Given the description of an element on the screen output the (x, y) to click on. 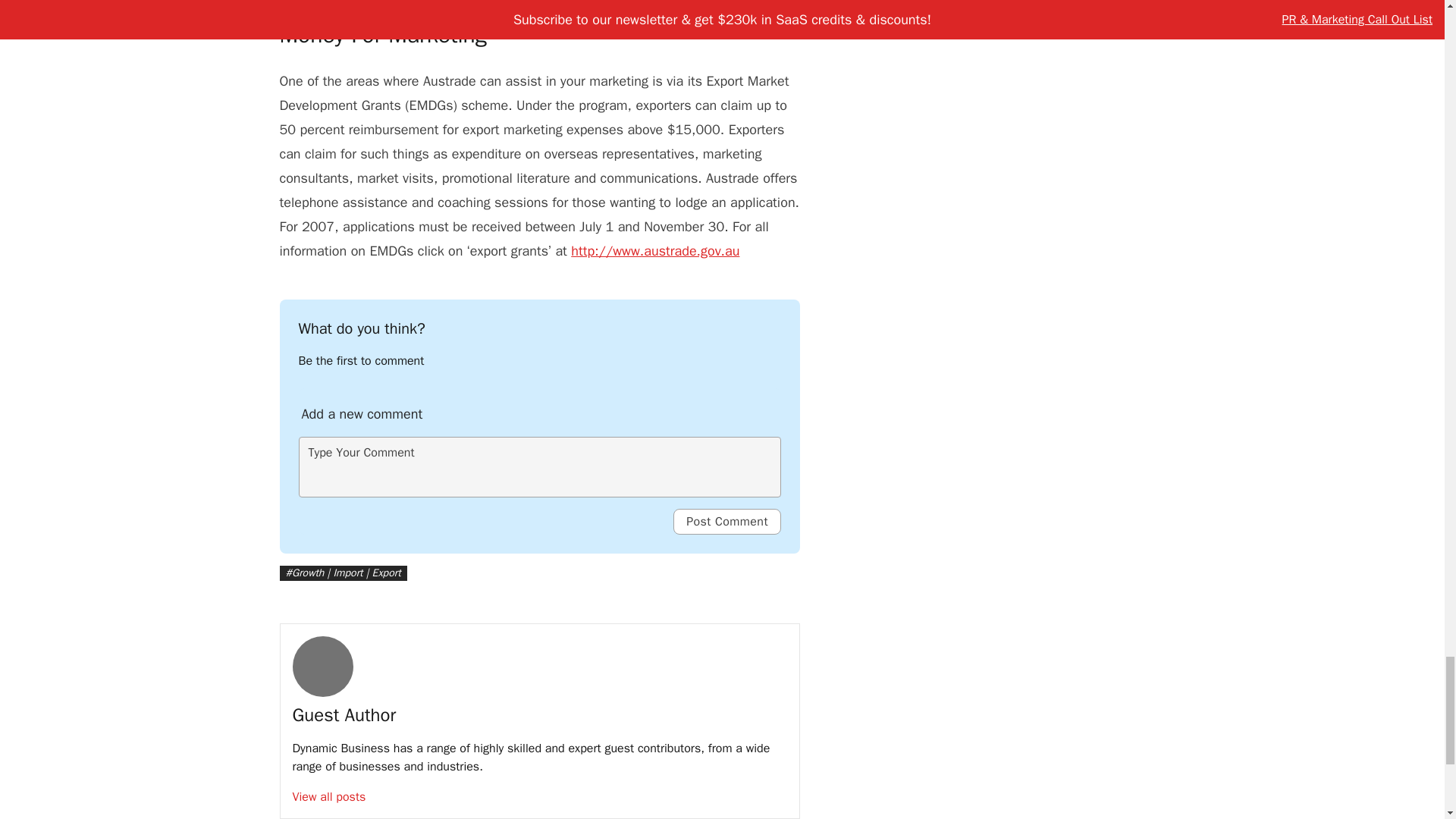
Post Comment (726, 521)
View all posts (329, 796)
